Given the description of an element on the screen output the (x, y) to click on. 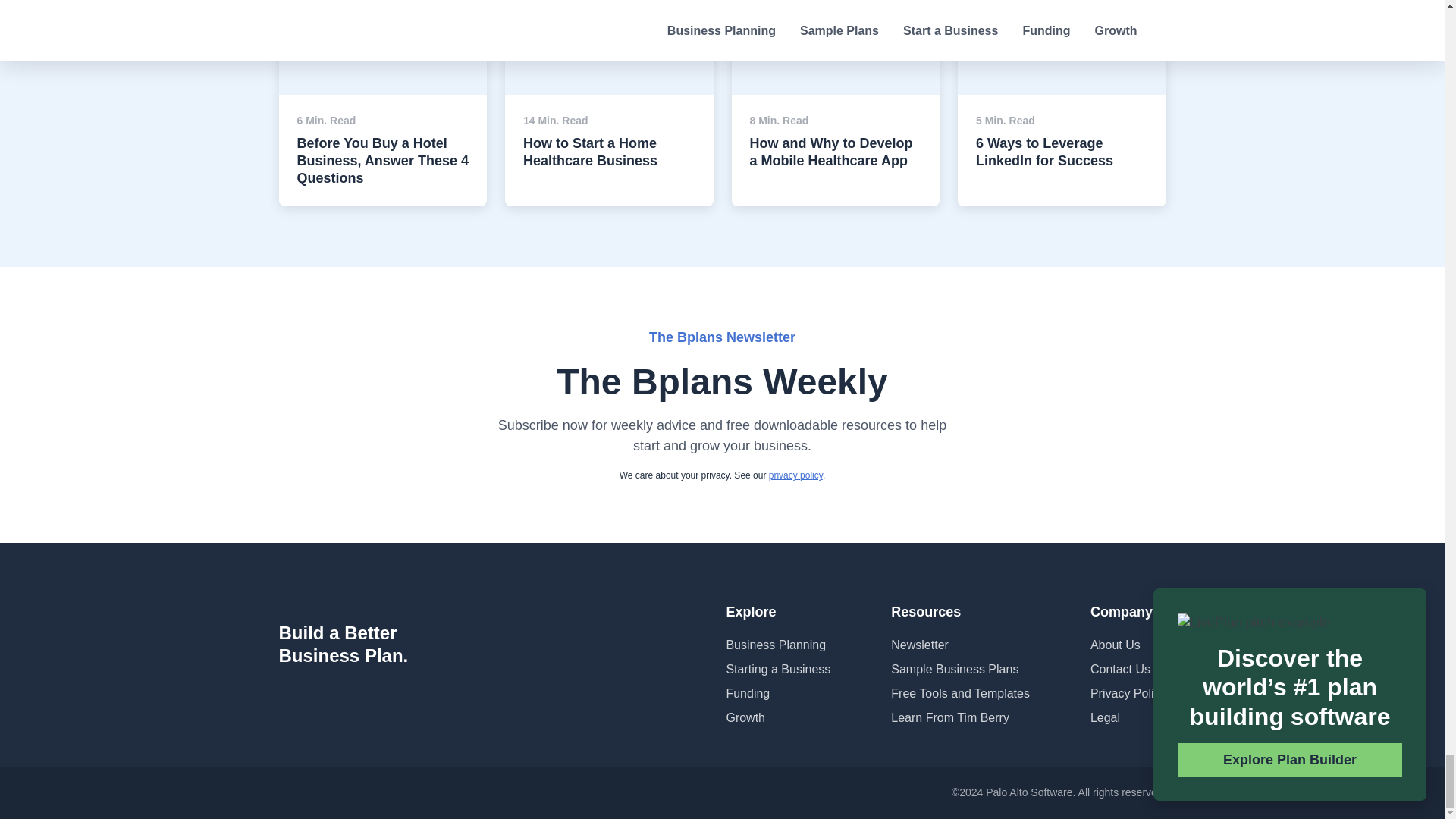
How to start a home healthcare business (609, 22)
Should you buy a hotel? (358, 13)
How to optimize your LinkedIn presence (1062, 22)
How to develop a mobile healthcare app (834, 22)
